Given the description of an element on the screen output the (x, y) to click on. 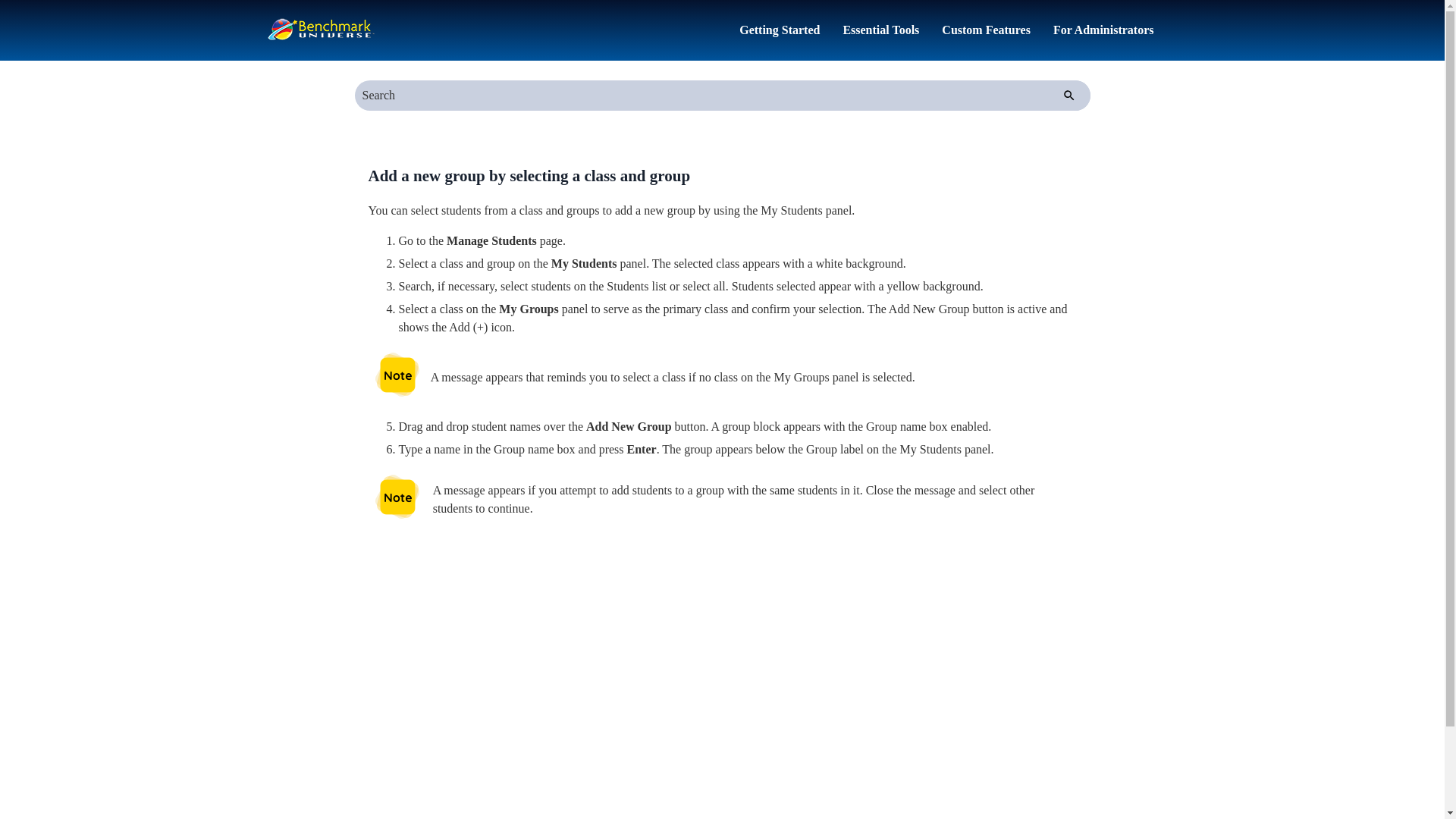
Essential Tools (880, 30)
Getting Started (779, 30)
Search (1069, 95)
